Given the description of an element on the screen output the (x, y) to click on. 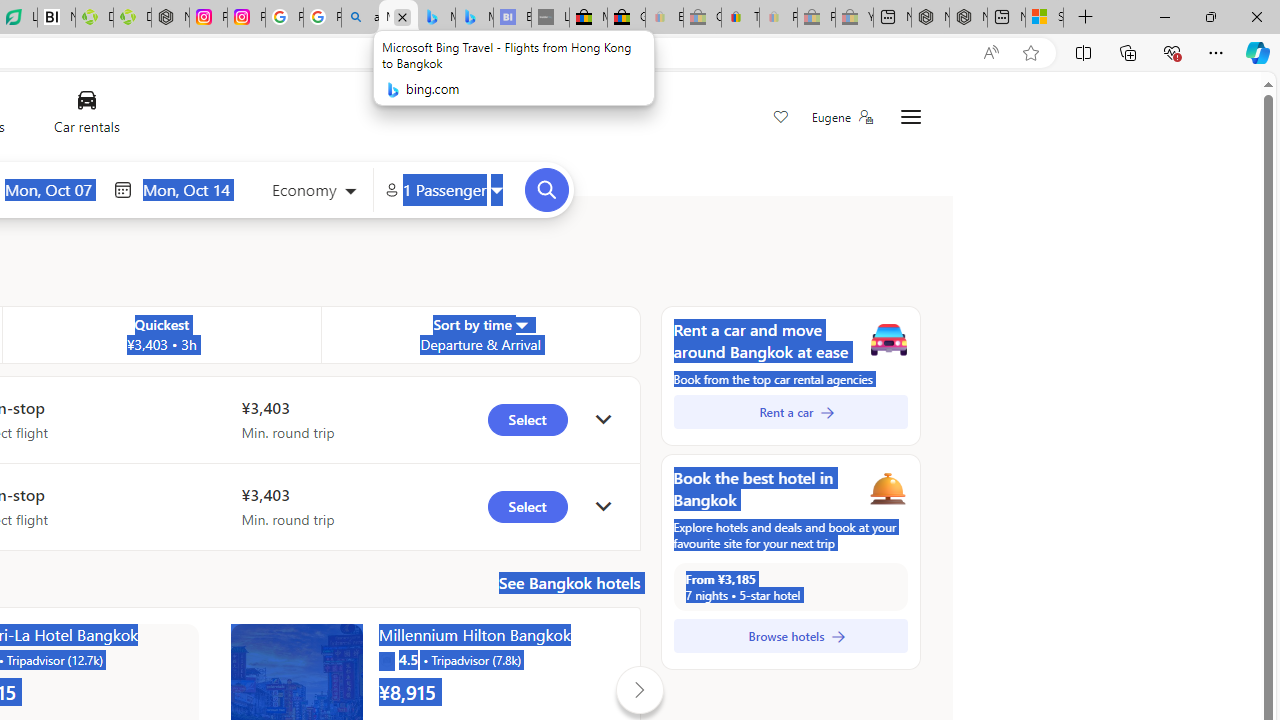
Nordace - Nordace Edin Collection (170, 17)
Browse hotels (790, 636)
Microsoft Bing Travel - Flights from Hong Kong to Bangkok (398, 17)
Descarga Driver Updater (132, 17)
Tripadvisor (386, 660)
Save (780, 118)
Yard, Garden & Outdoor Living - Sleeping (853, 17)
Select class of service (313, 192)
Press Room - eBay Inc. - Sleeping (815, 17)
Save (780, 118)
Threats and offensive language policy | eBay (740, 17)
click to get details (603, 506)
